Given the description of an element on the screen output the (x, y) to click on. 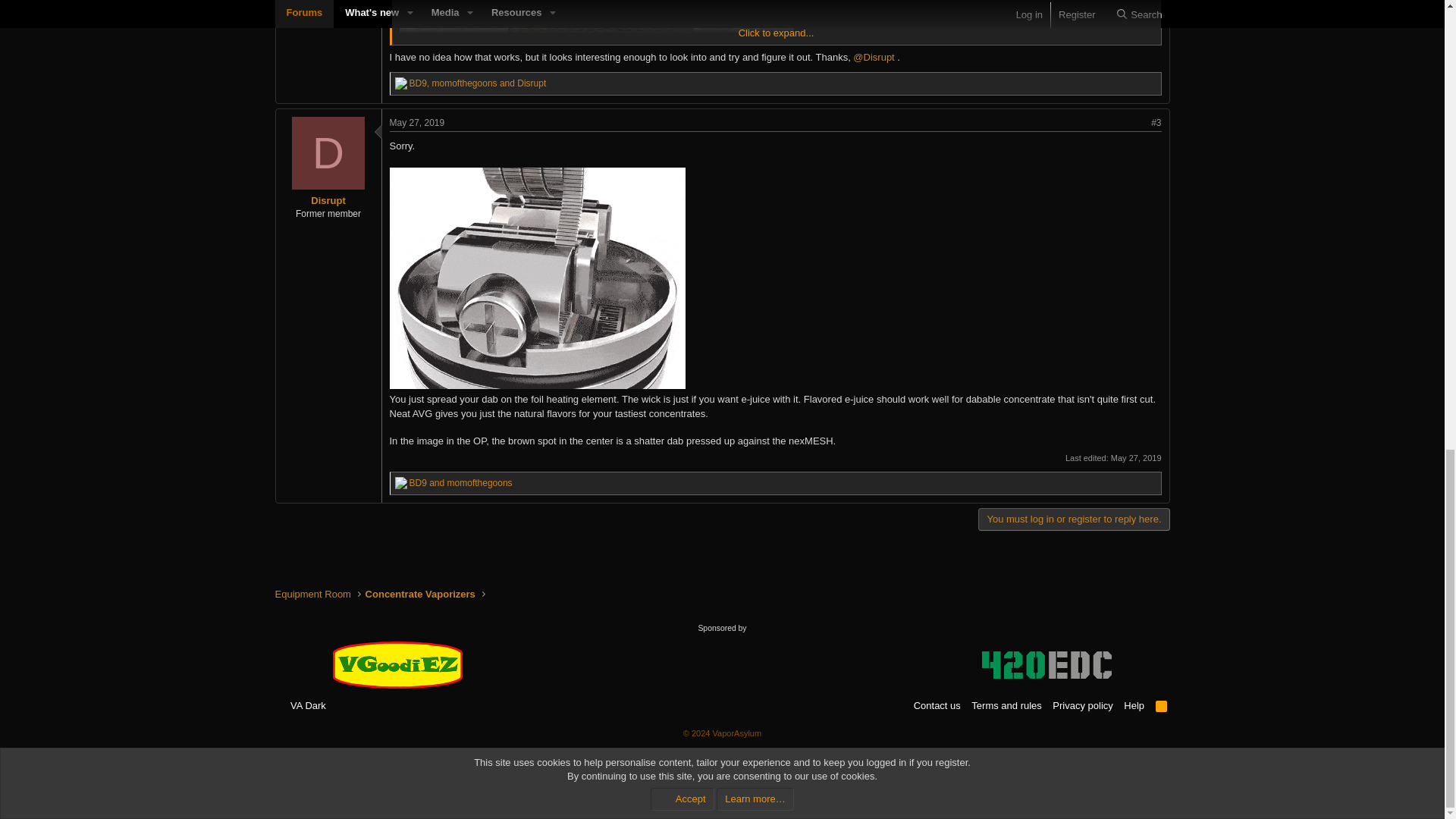
May 27, 2019 at 4:52 PM (417, 122)
May 27, 2019 at 6:01 PM (1135, 457)
Like (400, 82)
Getting the good stuff was never so EZ (397, 664)
ezgif-com-optimize.gif (617, 280)
Like (400, 482)
